Given the description of an element on the screen output the (x, y) to click on. 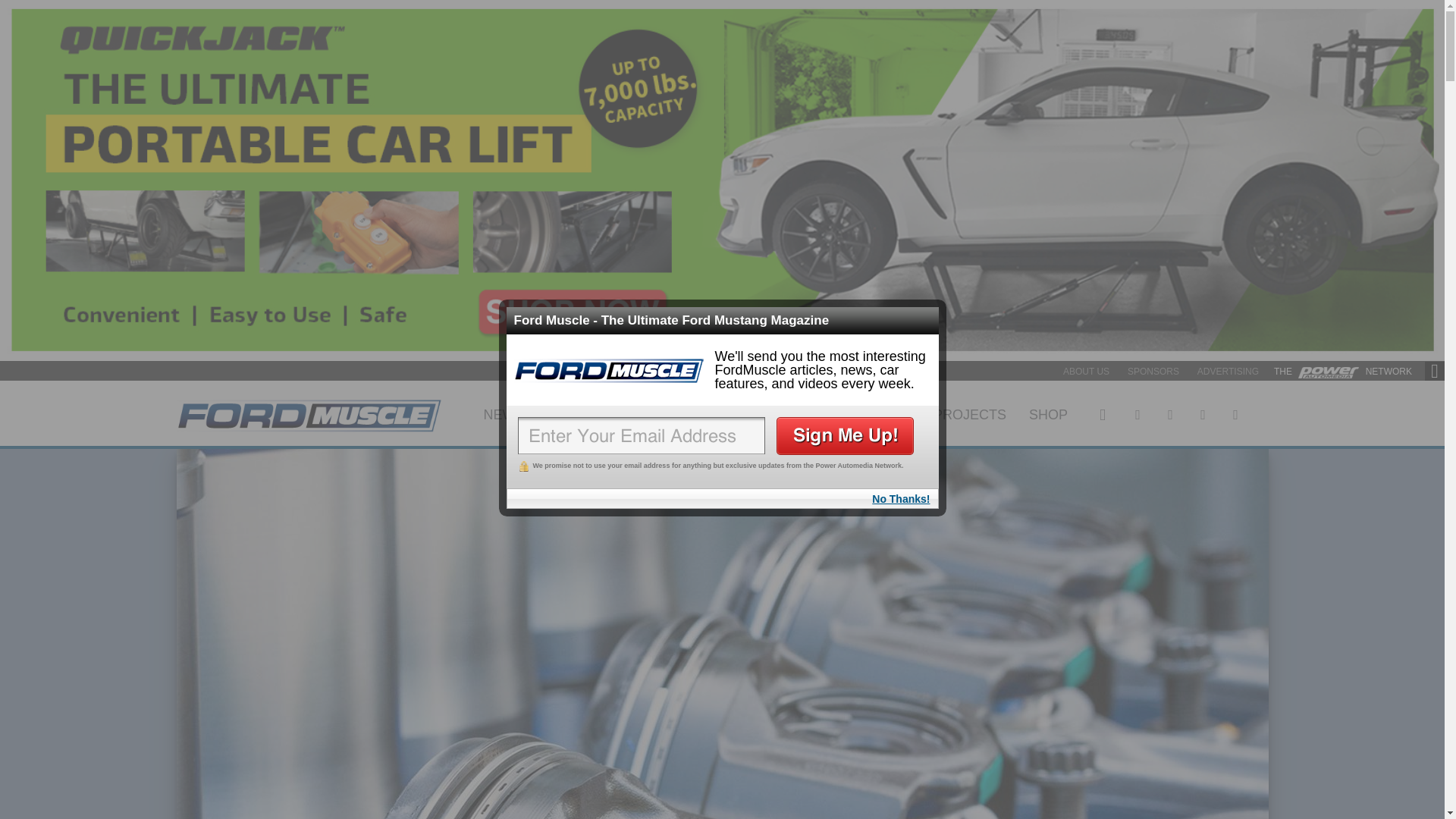
SPONSORS (1152, 371)
ABOUT US (1085, 371)
Sign me up (845, 435)
NEWS (503, 412)
ADVERTISING (1227, 371)
